Given the description of an element on the screen output the (x, y) to click on. 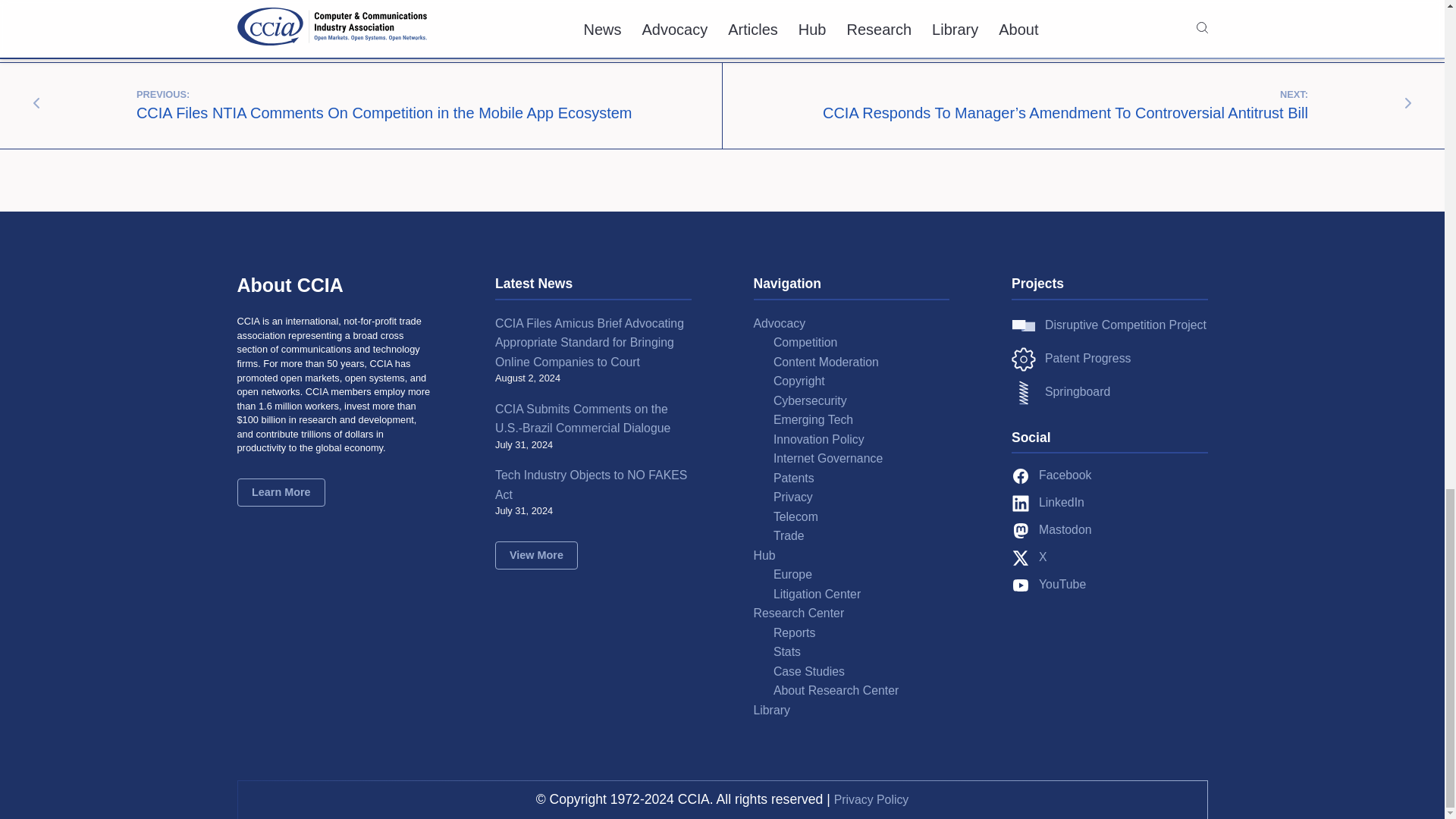
mastodon fill (1020, 530)
arrow-sm-right (1408, 102)
arrow-sm-left (36, 102)
facebook circle fill (1020, 475)
youtube fill (1020, 585)
